Given the description of an element on the screen output the (x, y) to click on. 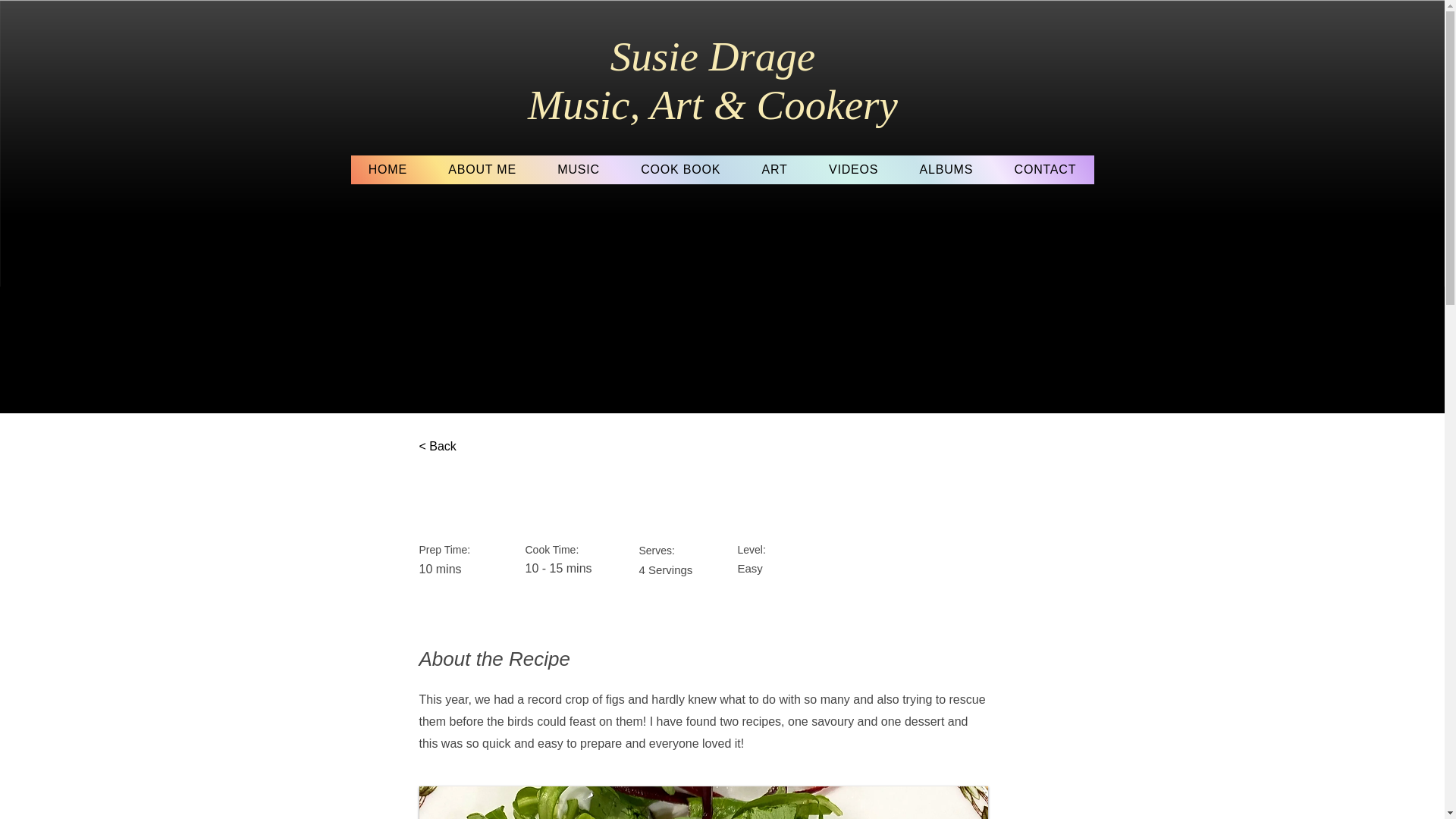
ALBUMS (945, 169)
ART (774, 169)
VIDEOS (853, 169)
COOK BOOK (680, 169)
MUSIC (578, 169)
HOME (387, 169)
ABOUT ME (482, 169)
54XXfvmwTjmxqWWVibyVZw-73799144-1920w.jpg.webp (703, 802)
